Given the description of an element on the screen output the (x, y) to click on. 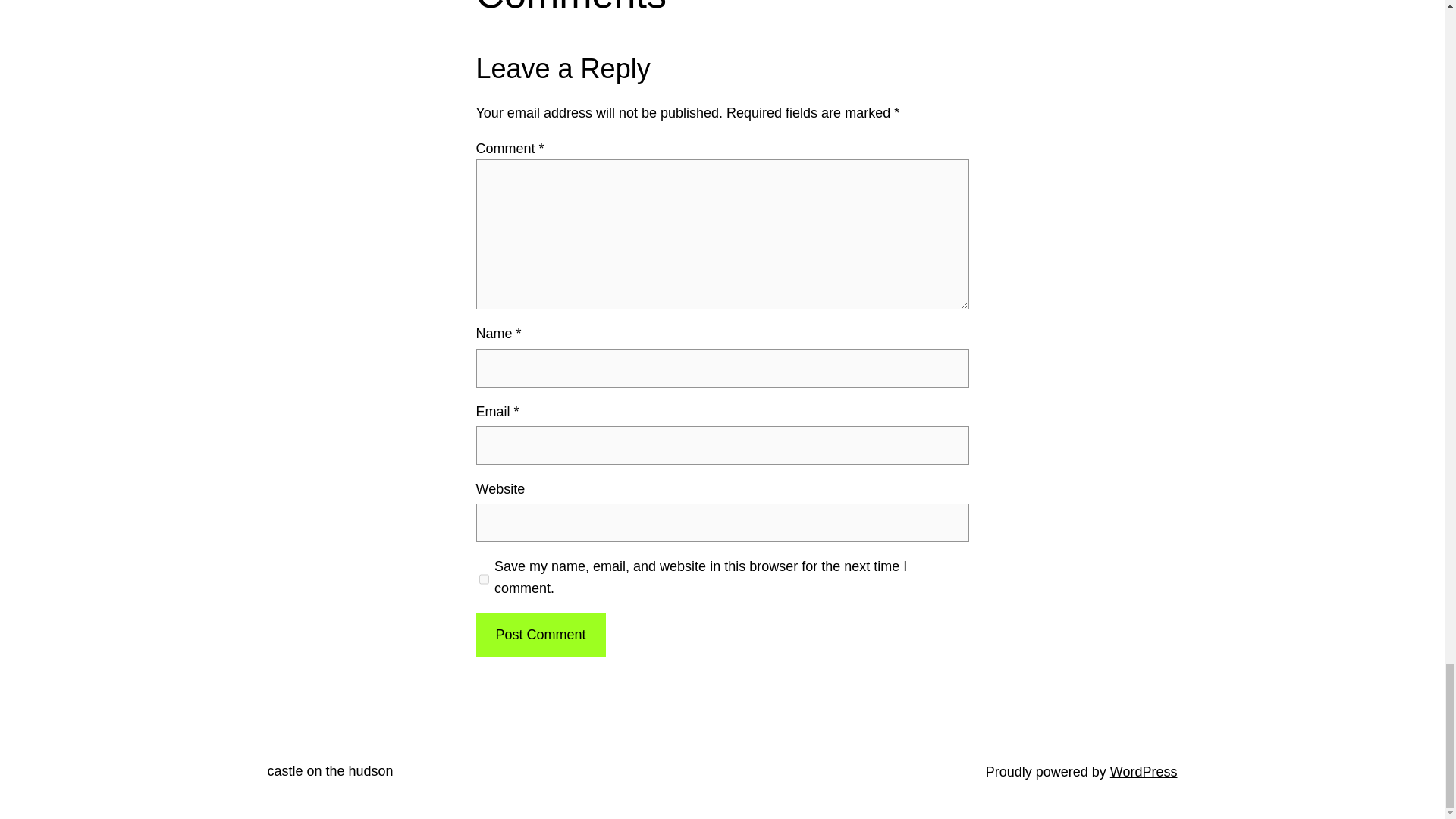
Post Comment (540, 634)
castle on the hudson (329, 770)
Post Comment (540, 634)
WordPress (1143, 771)
